Given the description of an element on the screen output the (x, y) to click on. 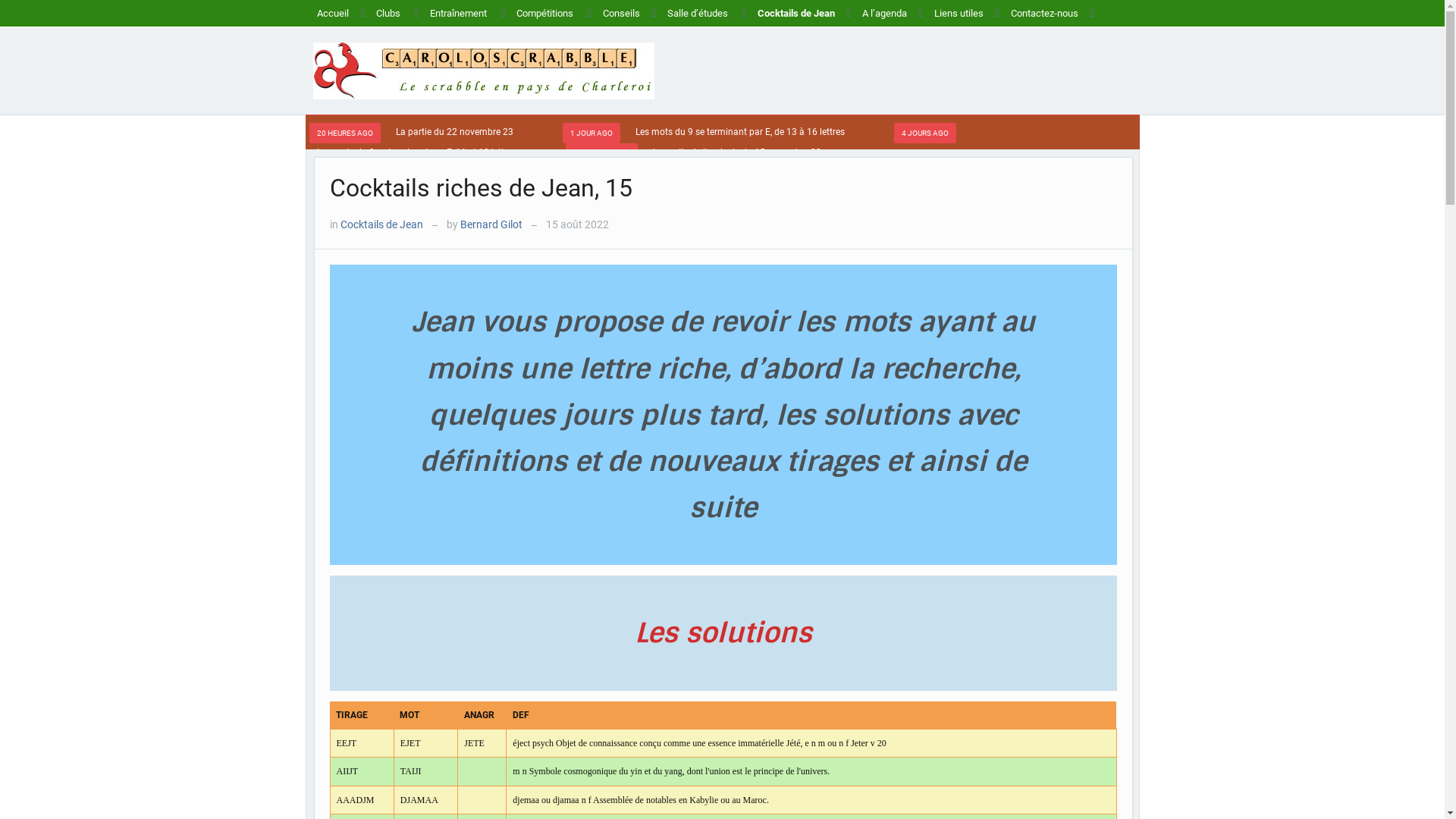
La partie du 22 novembre 23 Element type: text (454, 131)
Liens utiles Element type: text (958, 13)
Cocktails de Jean Element type: text (380, 224)
Les mots du 9 se terminant par E, 11 et 12 lettres Element type: text (416, 152)
Cocktails de Jean Element type: text (796, 13)
Clubs Element type: text (387, 13)
Bernard Gilot Element type: text (490, 224)
Le scrabble en pays de Charleroi Element type: hover (482, 69)
Contactez-nous Element type: text (1044, 13)
Accueil Element type: text (331, 13)
Conseils Element type: text (621, 13)
Cocktails riches de Jean, 15 Element type: text (480, 187)
